Given the description of an element on the screen output the (x, y) to click on. 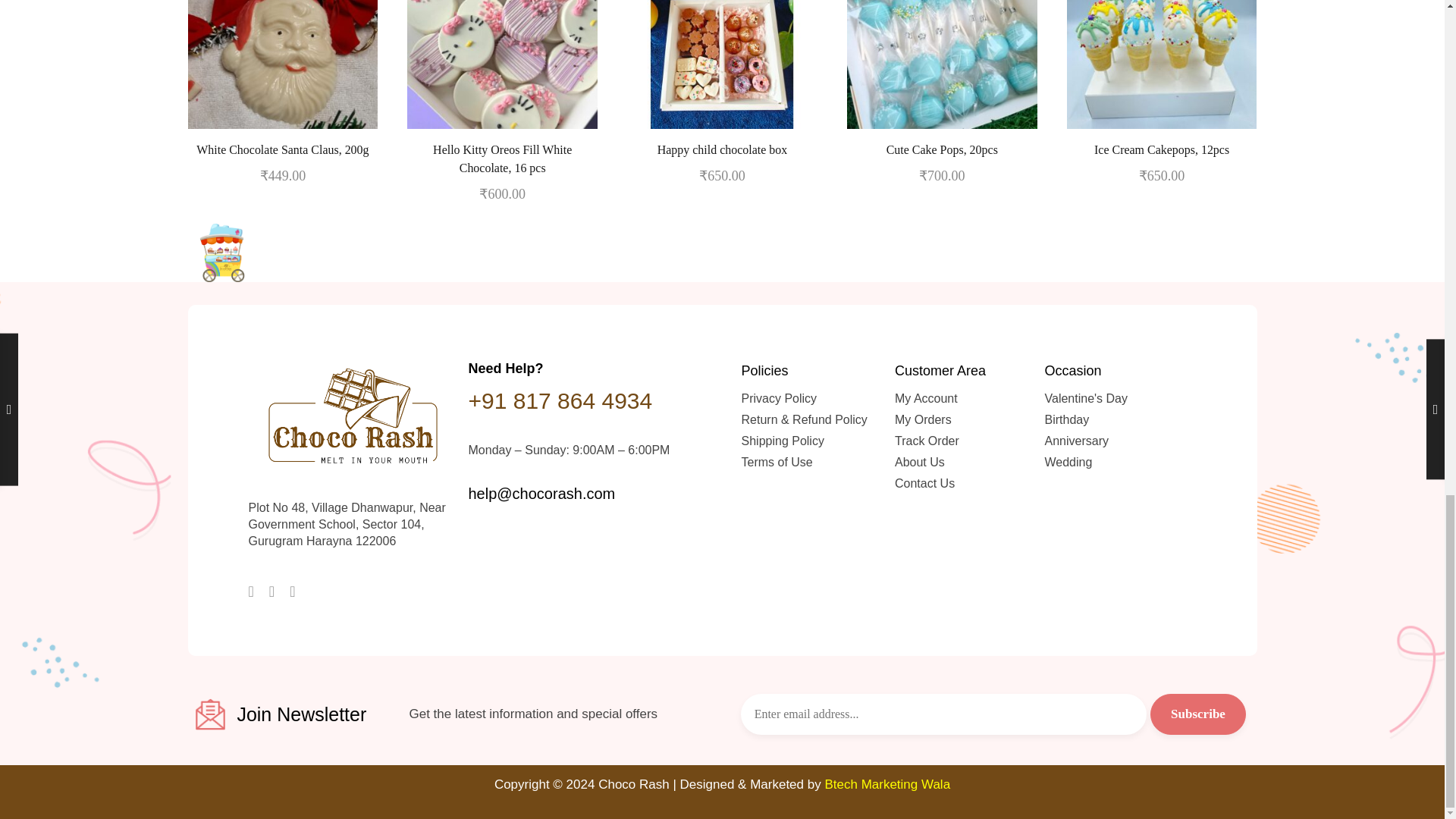
Customer Area (964, 375)
Policies (812, 375)
Shipping Policy (812, 441)
Subscribe (1198, 713)
Privacy Policy (812, 398)
Terms of Use (812, 462)
My Account (964, 398)
